Given the description of an element on the screen output the (x, y) to click on. 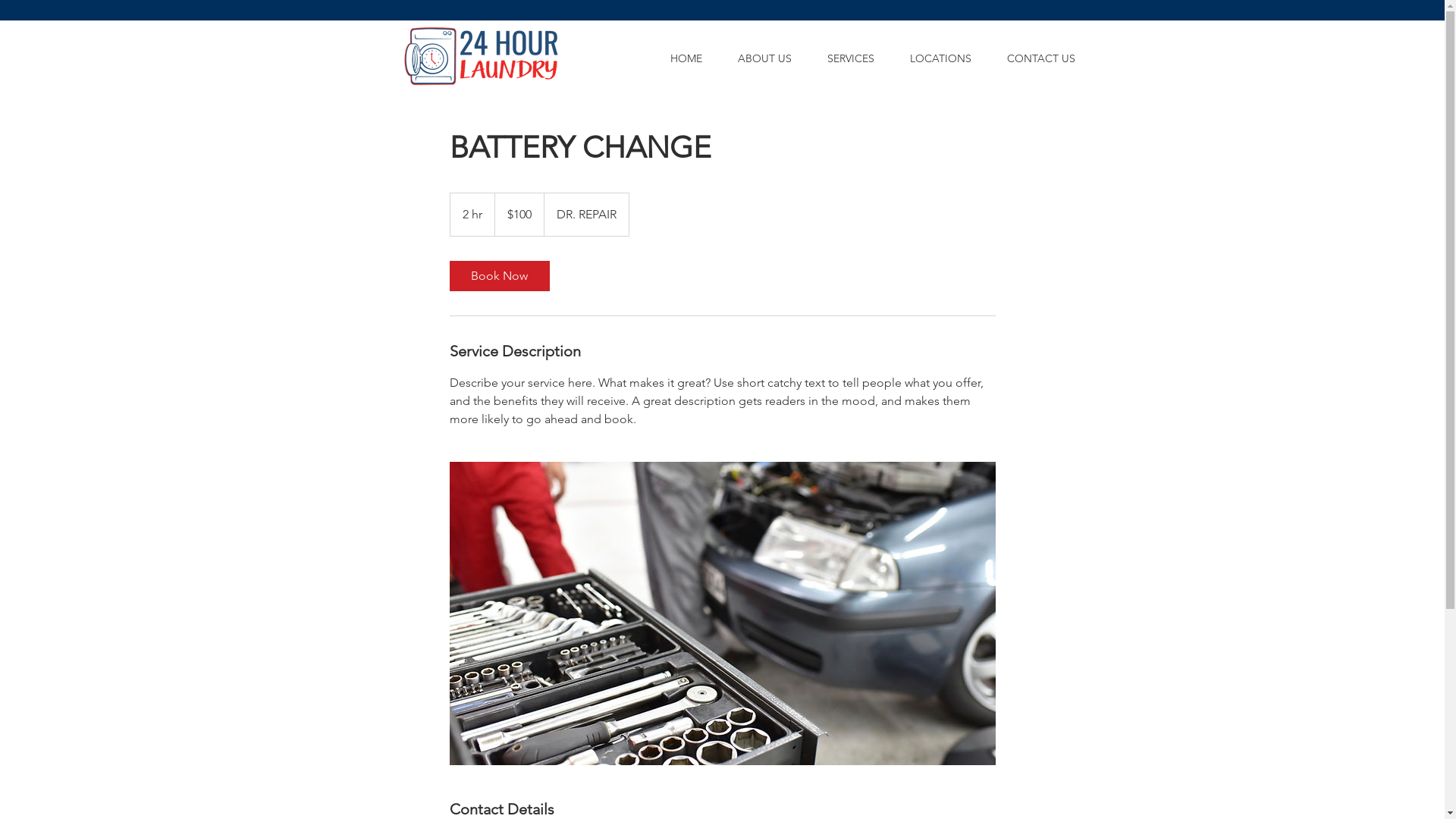
LOCATIONS Element type: text (939, 58)
HOME Element type: text (686, 58)
ABOUT US Element type: text (764, 58)
SERVICES Element type: text (850, 58)
CONTACT US Element type: text (1040, 58)
Book Now Element type: text (498, 275)
